Given the description of an element on the screen output the (x, y) to click on. 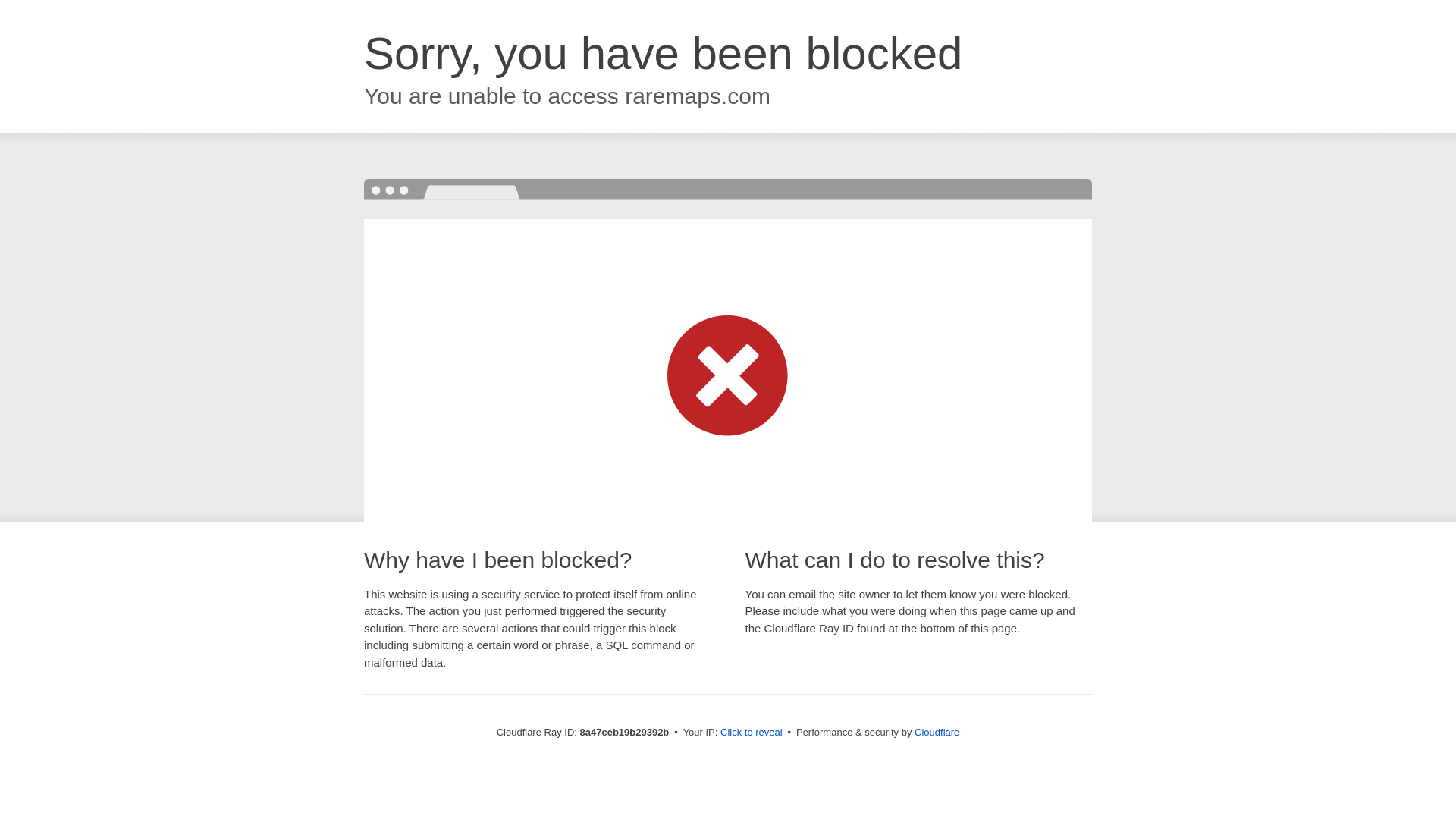
Cloudflare (936, 731)
Click to reveal (751, 732)
